Given the description of an element on the screen output the (x, y) to click on. 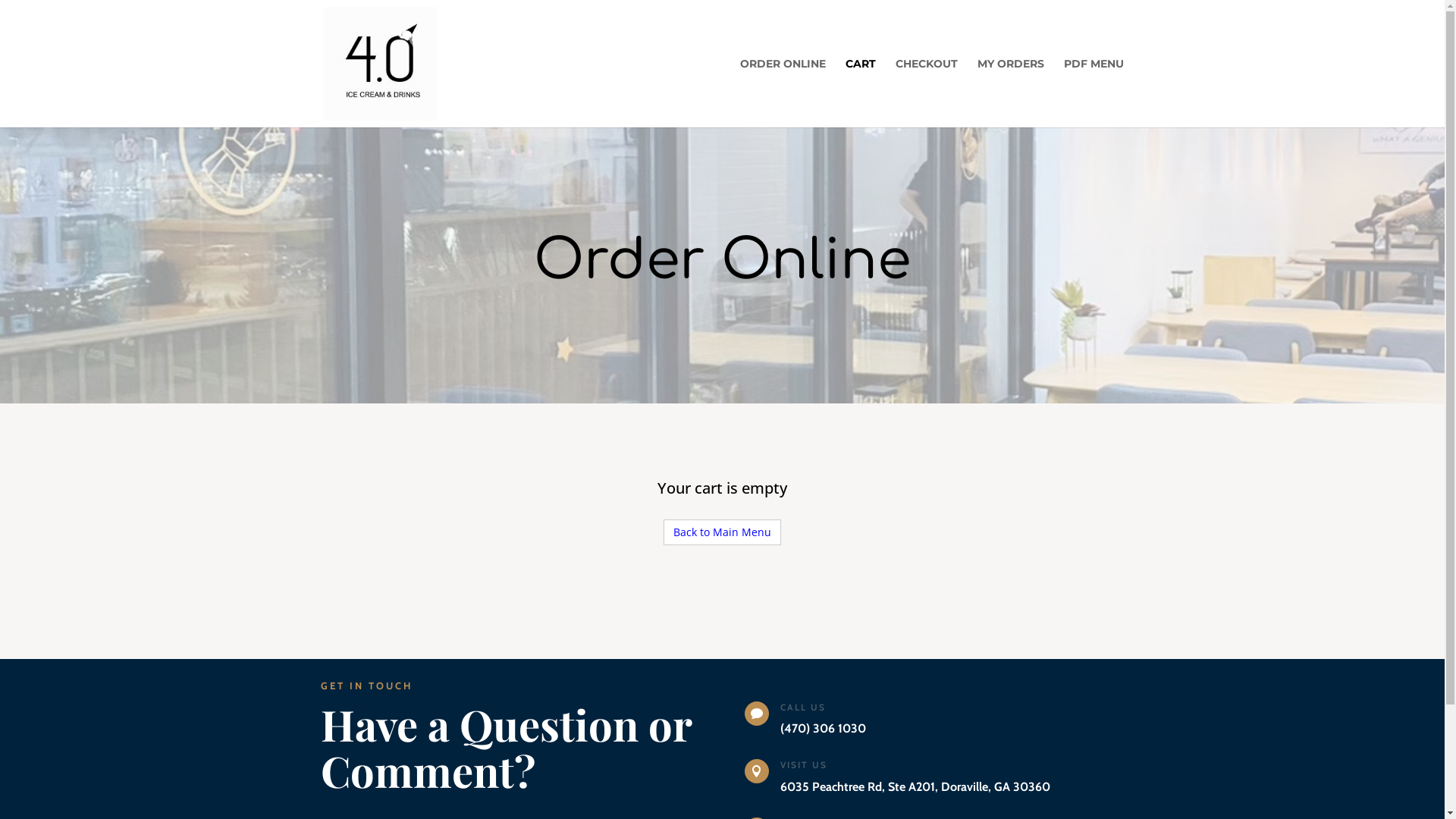
CART Element type: text (860, 92)
ORDER ONLINE Element type: text (782, 92)
PDF MENU Element type: text (1093, 92)
CHECKOUT Element type: text (926, 92)
Back to Main Menu Element type: text (722, 532)
MY ORDERS Element type: text (1010, 92)
